Given the description of an element on the screen output the (x, y) to click on. 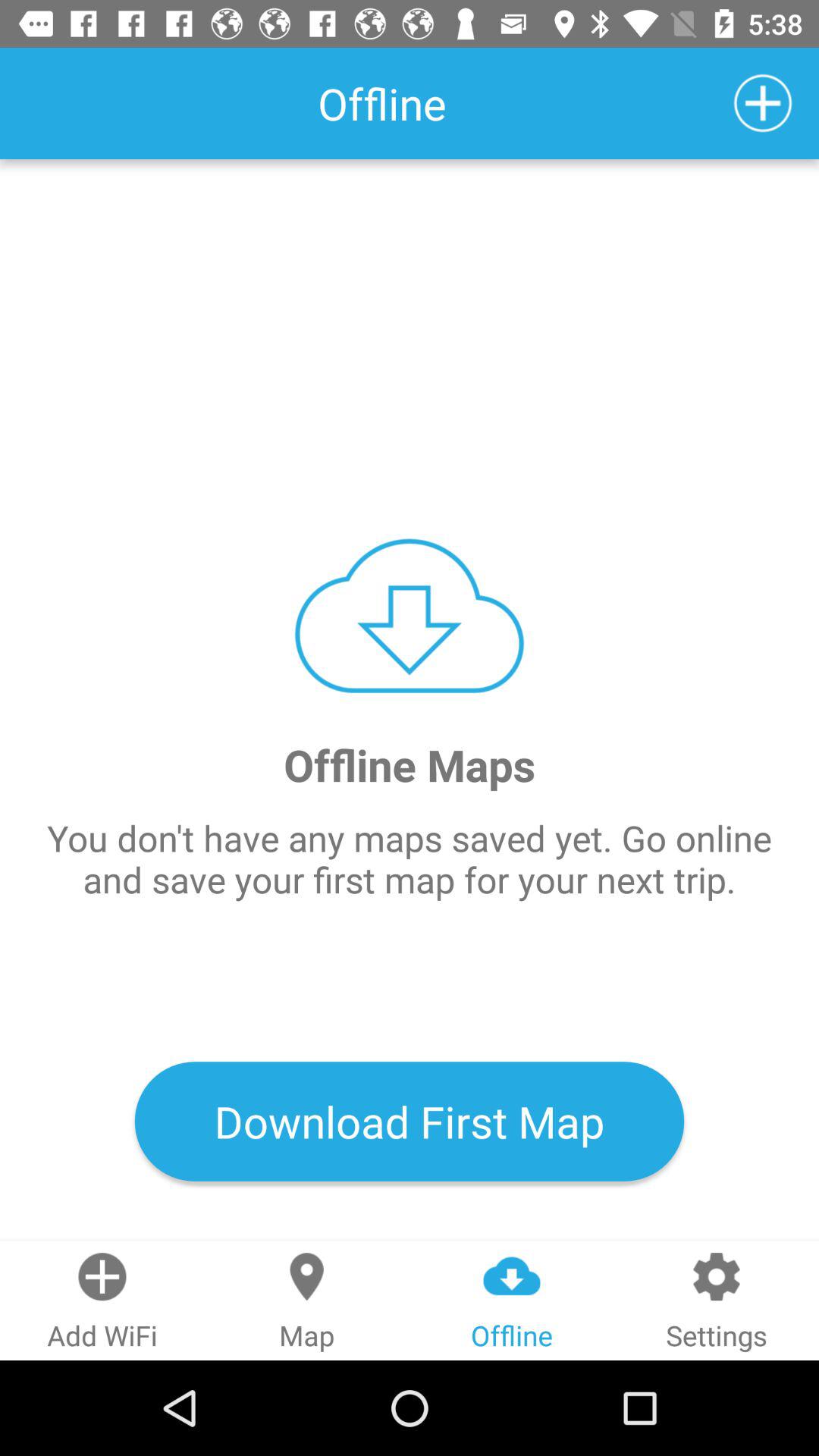
press the icon next to offline item (762, 103)
